Given the description of an element on the screen output the (x, y) to click on. 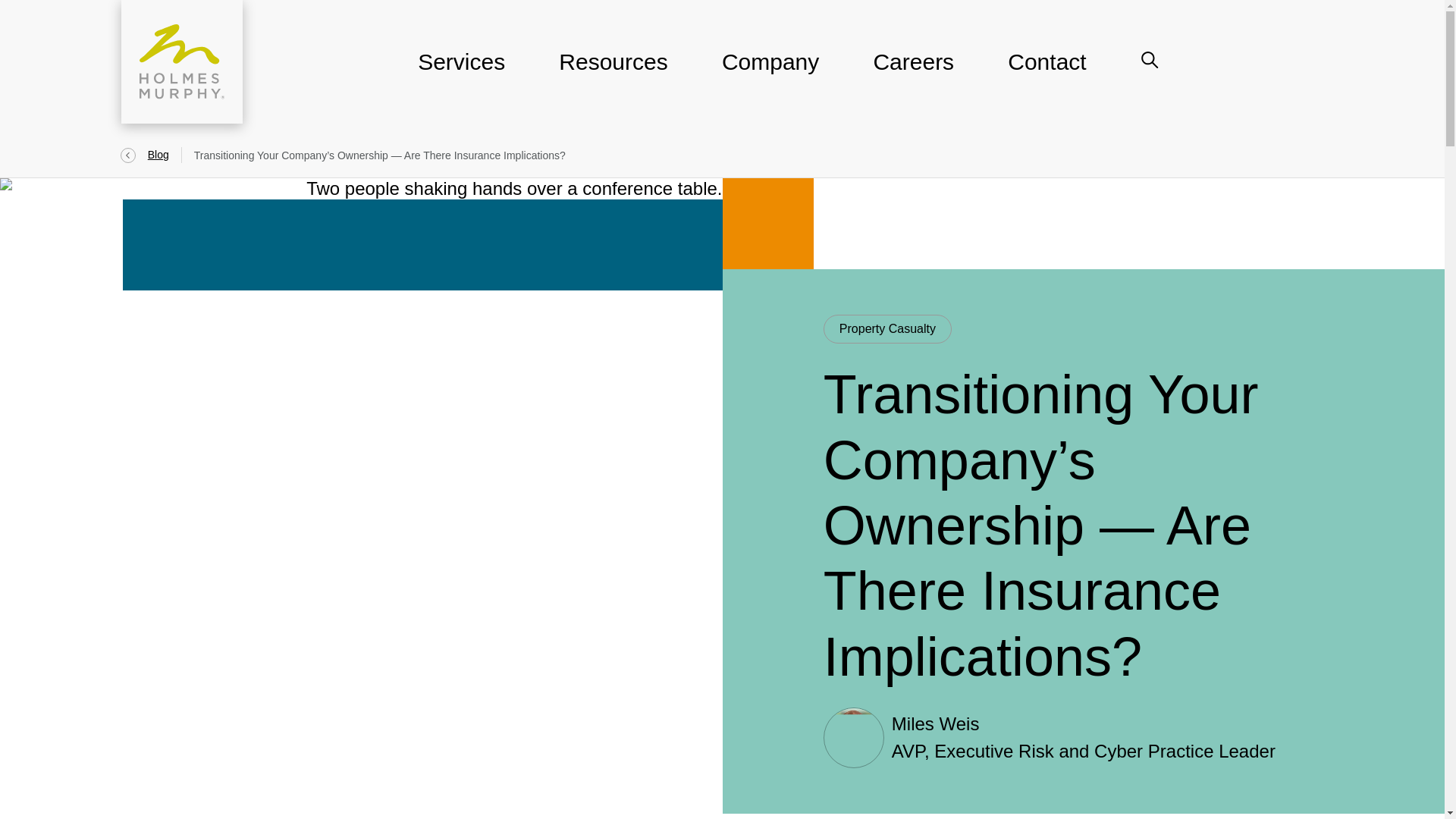
Contact (1046, 70)
Careers (912, 70)
Services (461, 70)
Company (770, 70)
Resources (612, 70)
